Given the description of an element on the screen output the (x, y) to click on. 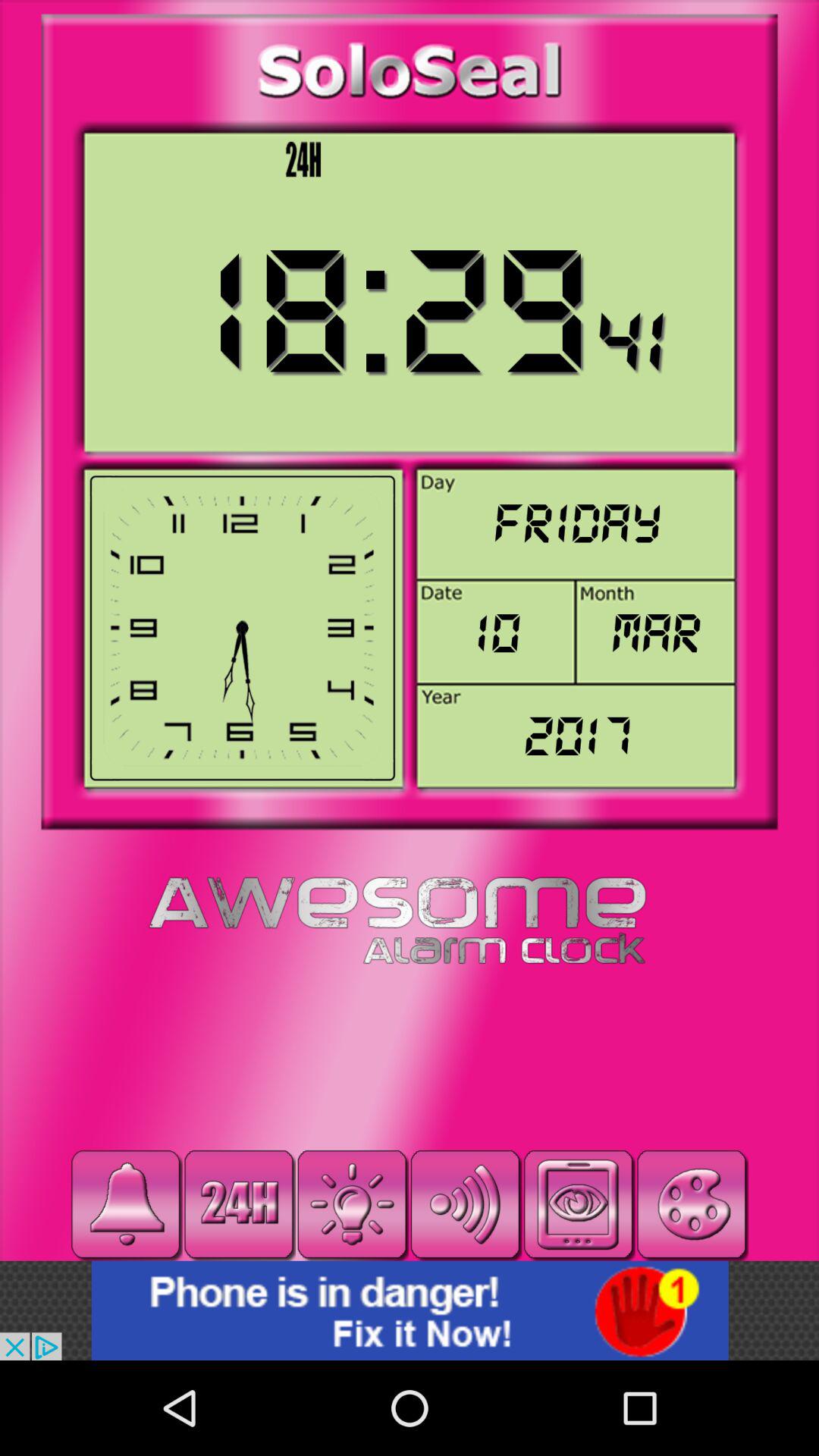
volume control (465, 1203)
